Given the description of an element on the screen output the (x, y) to click on. 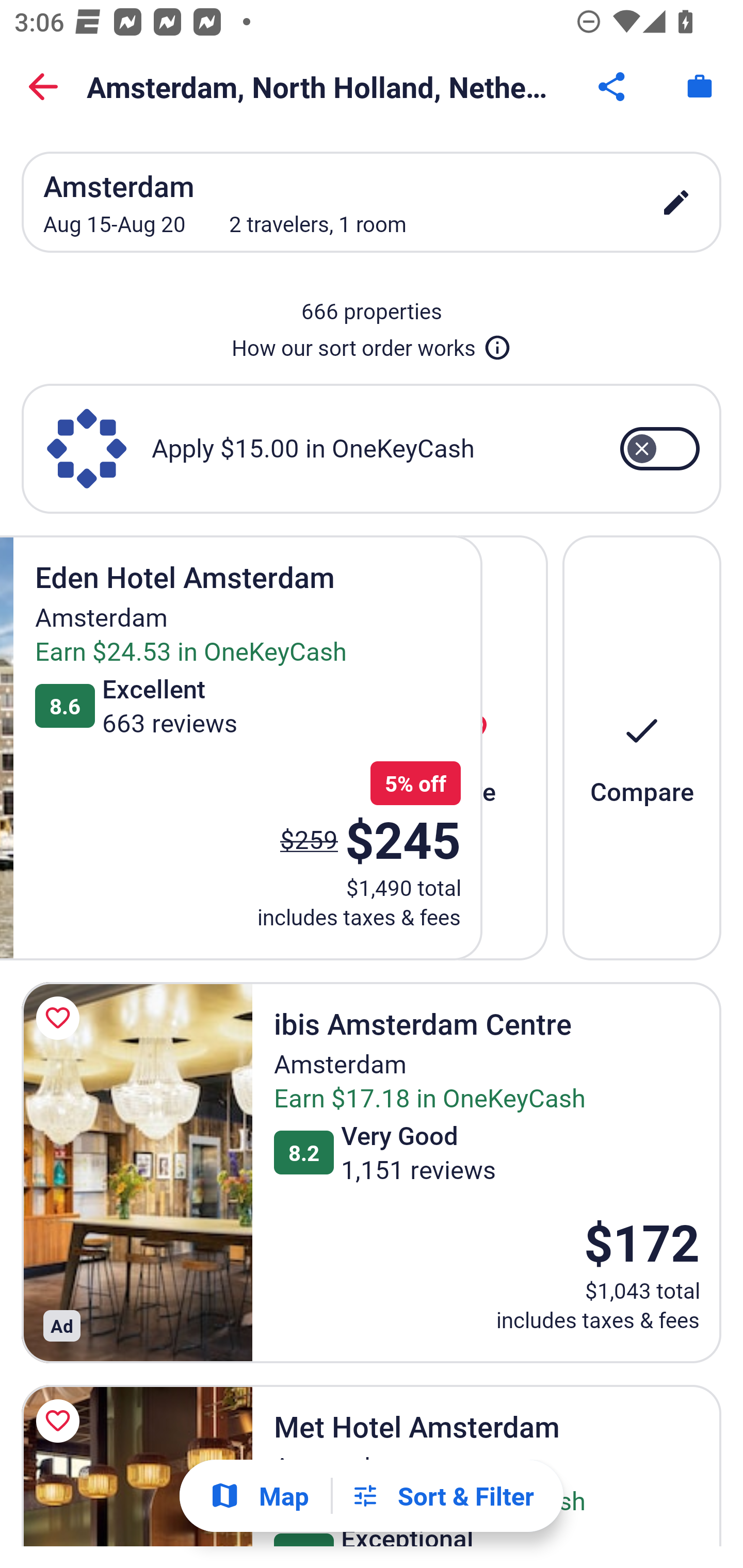
Back (43, 86)
Share Button (612, 86)
Trips. Button (699, 86)
Amsterdam Aug 15-Aug 20 2 travelers, 1 room edit (371, 202)
How our sort order works (371, 344)
Compare (641, 746)
$259 The price was $259 (308, 839)
Save ibis Amsterdam Centre to a trip (61, 1018)
ibis Amsterdam Centre (136, 1171)
Save Met Hotel Amsterdam to a trip (61, 1421)
Filters Sort & Filter Filters Button (442, 1495)
Show map Map Show map Button (258, 1495)
